Given the description of an element on the screen output the (x, y) to click on. 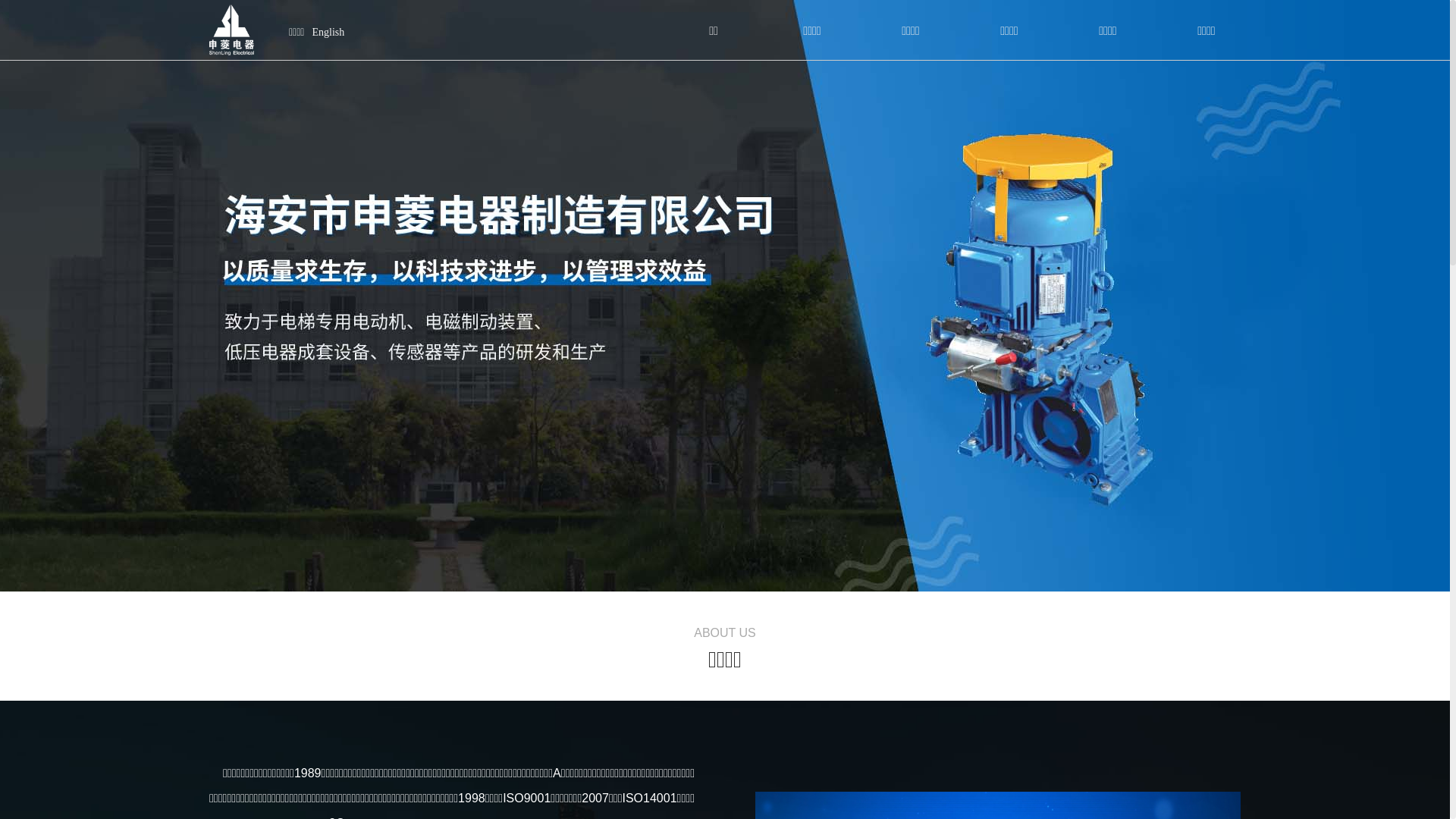
English Element type: text (327, 32)
